Given the description of an element on the screen output the (x, y) to click on. 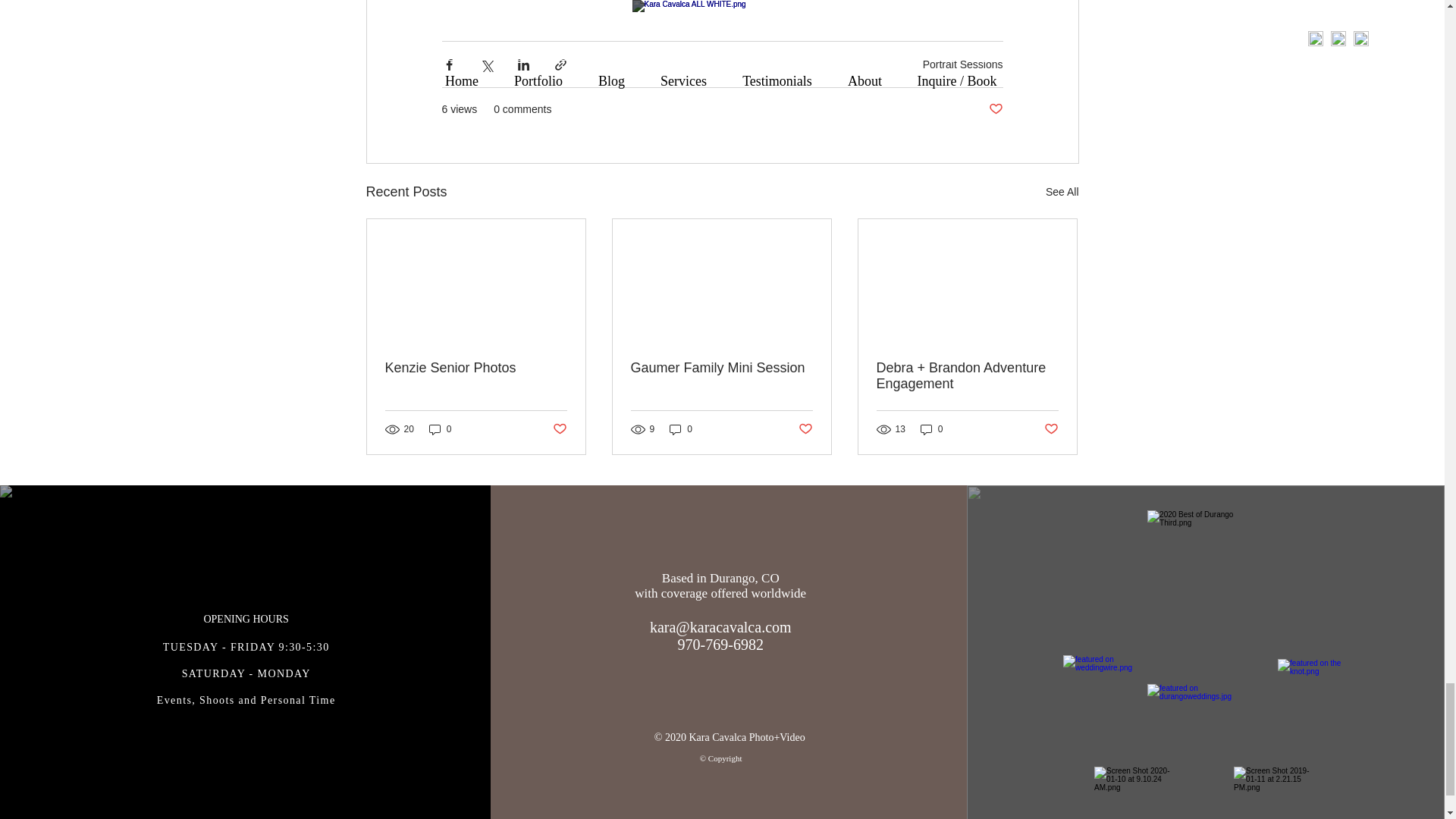
Post not marked as liked (558, 429)
0 (440, 429)
See All (1061, 191)
Post not marked as liked (995, 109)
Portrait Sessions (963, 64)
Kenzie Senior Photos (476, 367)
